Given the description of an element on the screen output the (x, y) to click on. 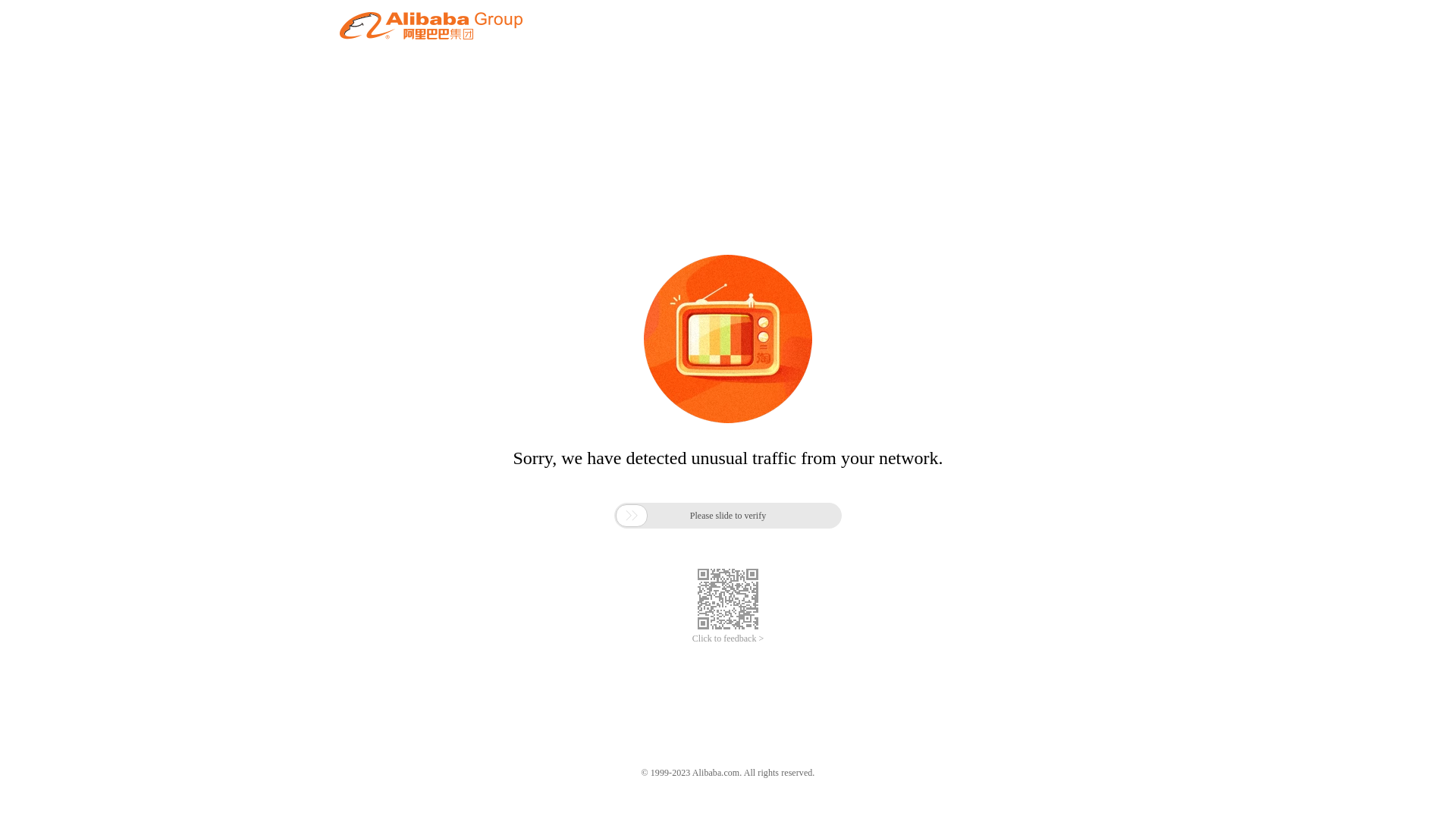
Click to feedback > Element type: text (727, 638)
